Given the description of an element on the screen output the (x, y) to click on. 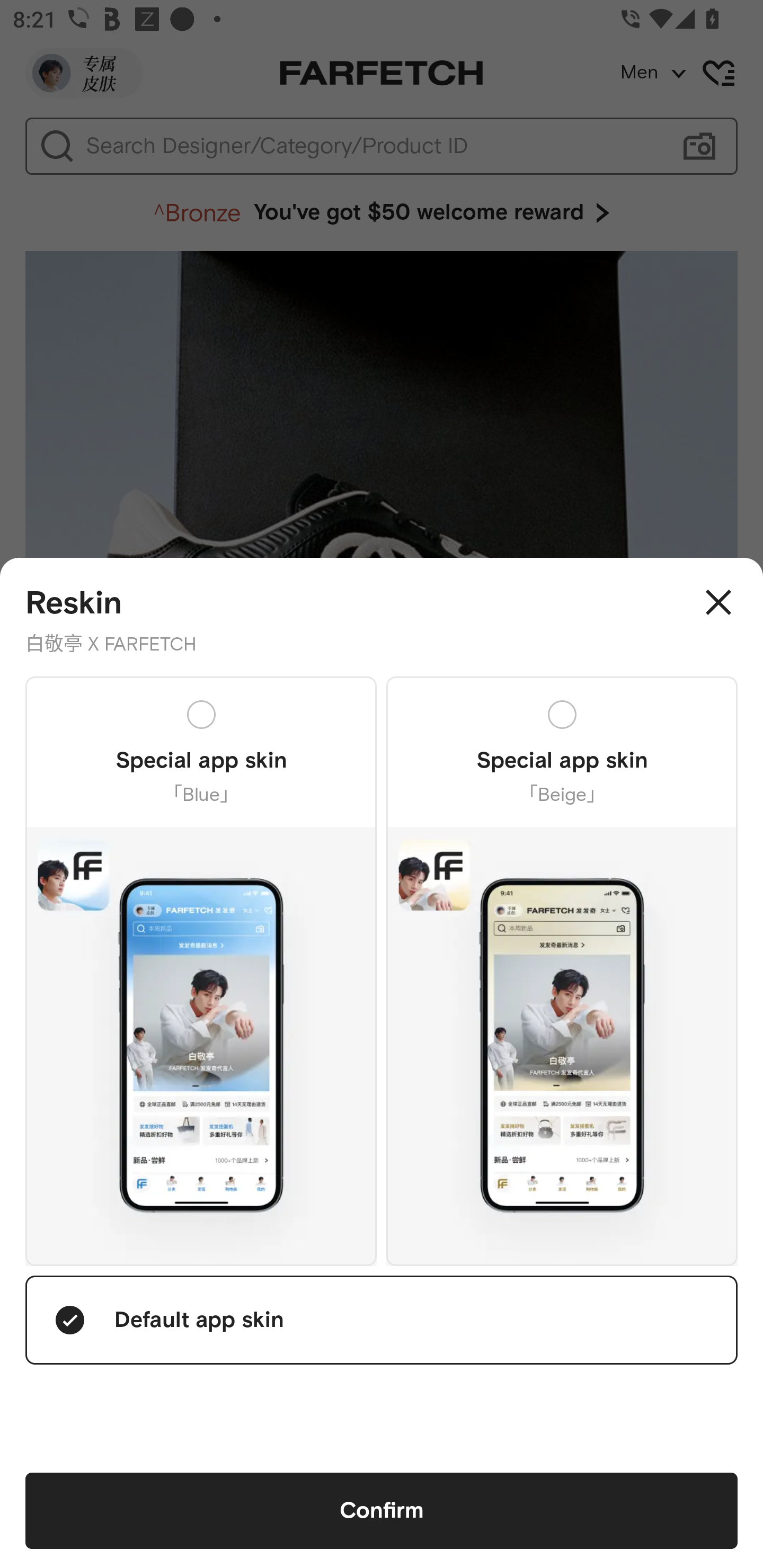
Special app skin 「Blue」 (200, 970)
Special app skin 「Beige」 (561, 970)
Default app skin (381, 1320)
Confirm (381, 1510)
